Given the description of an element on the screen output the (x, y) to click on. 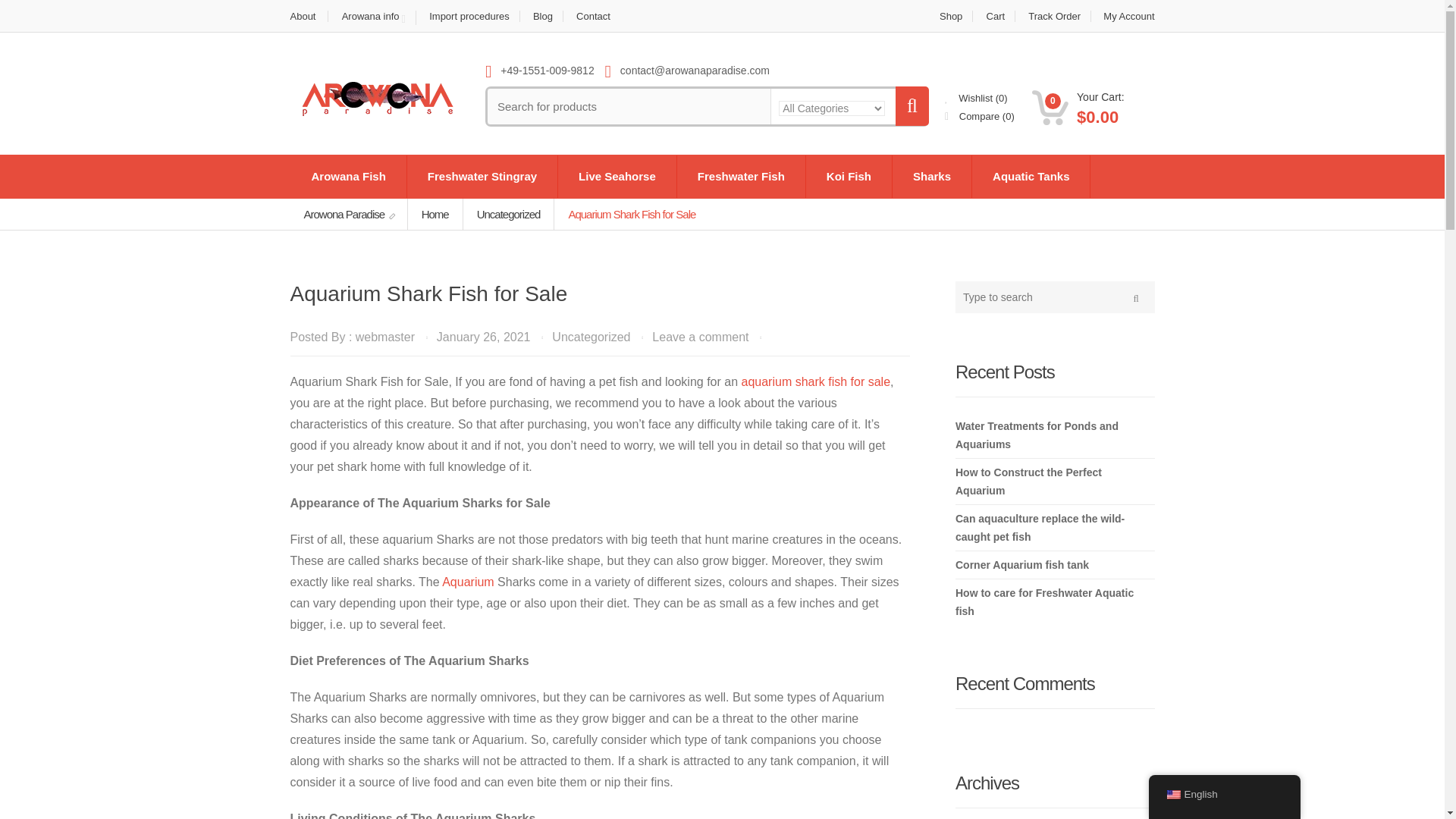
Arowana info (373, 17)
My Account (1124, 16)
Koi Fish (848, 176)
Shop (951, 16)
Contact (593, 16)
Import procedures (469, 16)
Cart (996, 16)
Contact (593, 16)
Aquatic Tanks (1030, 176)
Arowana Fish (348, 176)
